Given the description of an element on the screen output the (x, y) to click on. 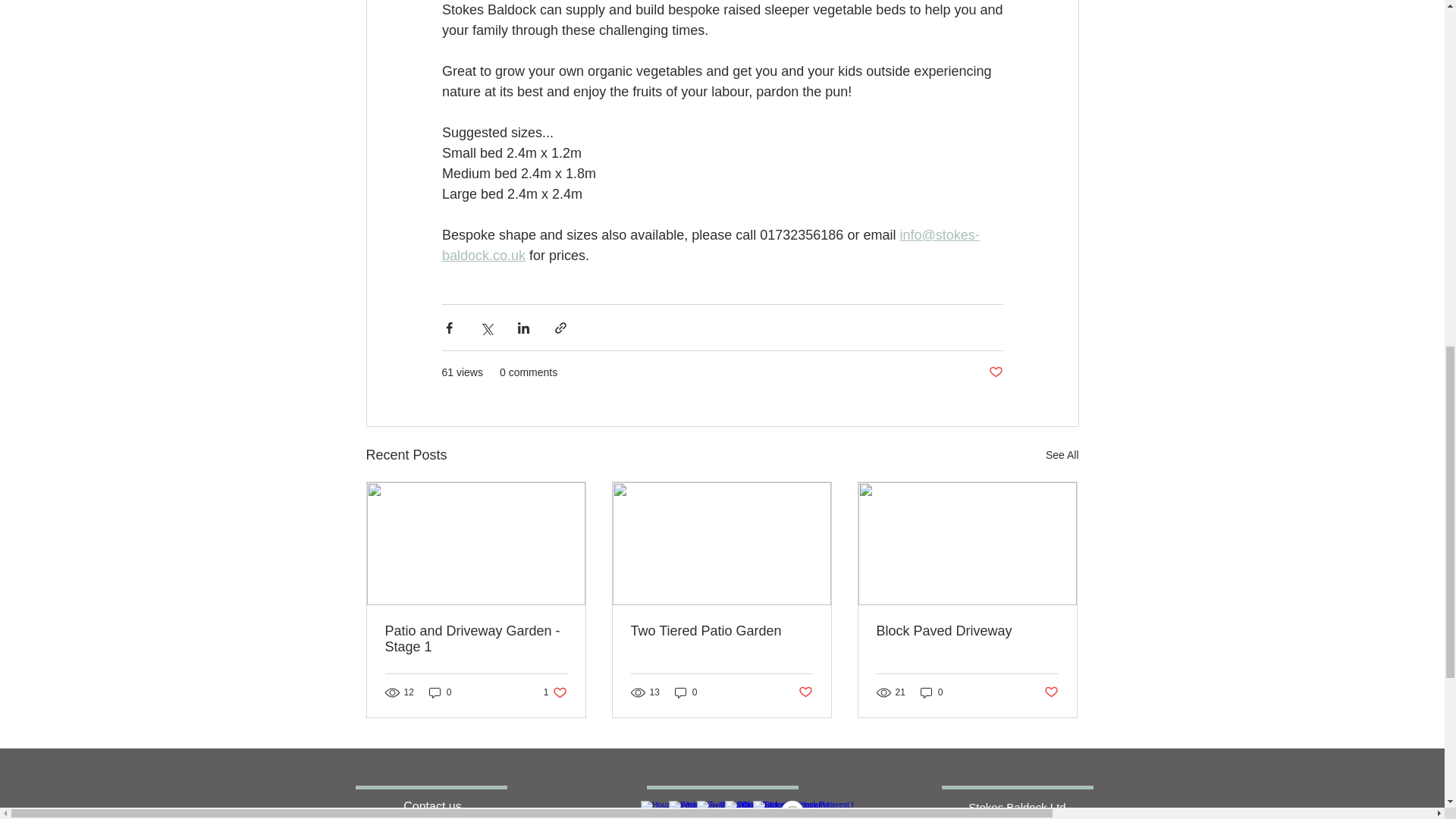
Post not marked as liked (995, 372)
See All (1061, 455)
0 (440, 692)
Patio and Driveway Garden - Stage 1 (476, 639)
